Given the description of an element on the screen output the (x, y) to click on. 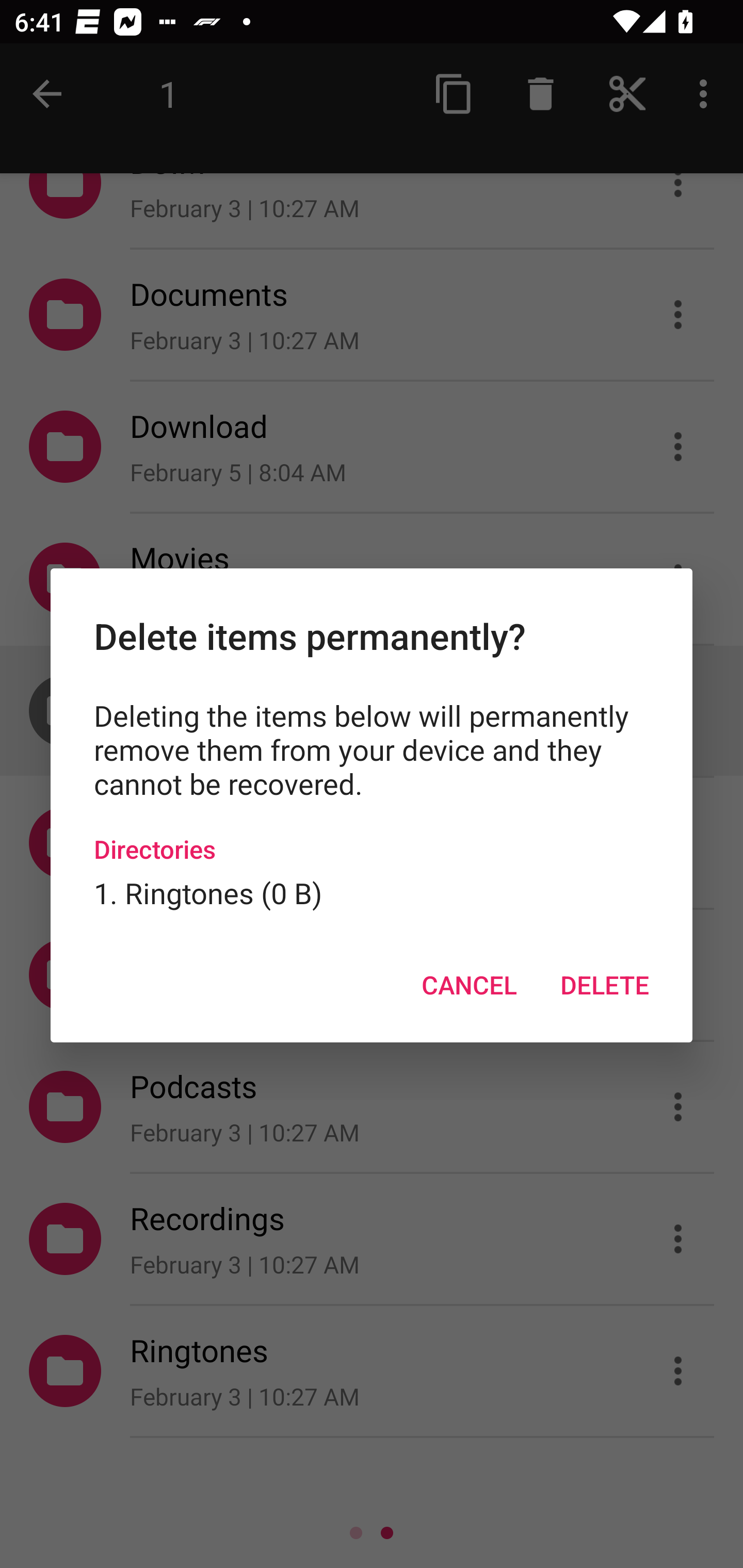
CANCEL (468, 984)
DELETE (603, 984)
